Given the description of an element on the screen output the (x, y) to click on. 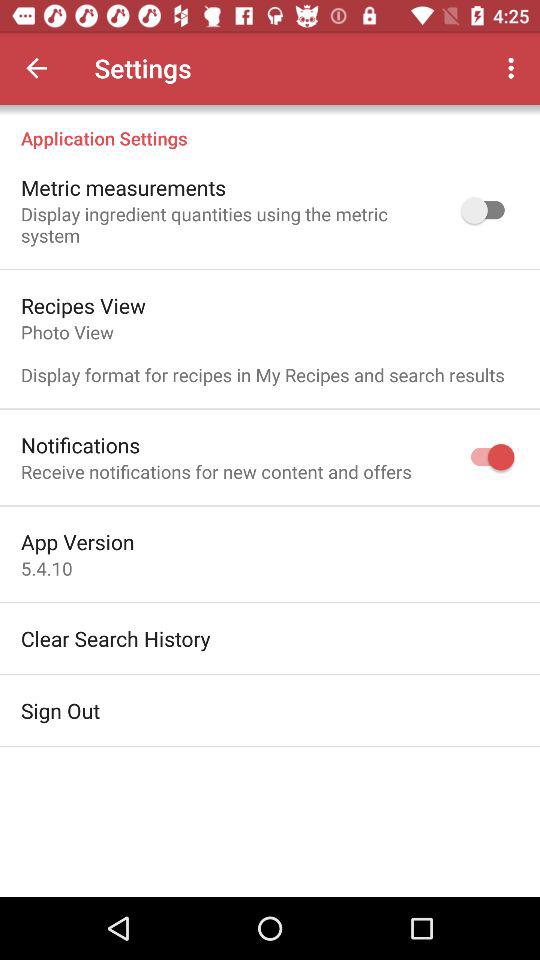
go back (36, 68)
